Given the description of an element on the screen output the (x, y) to click on. 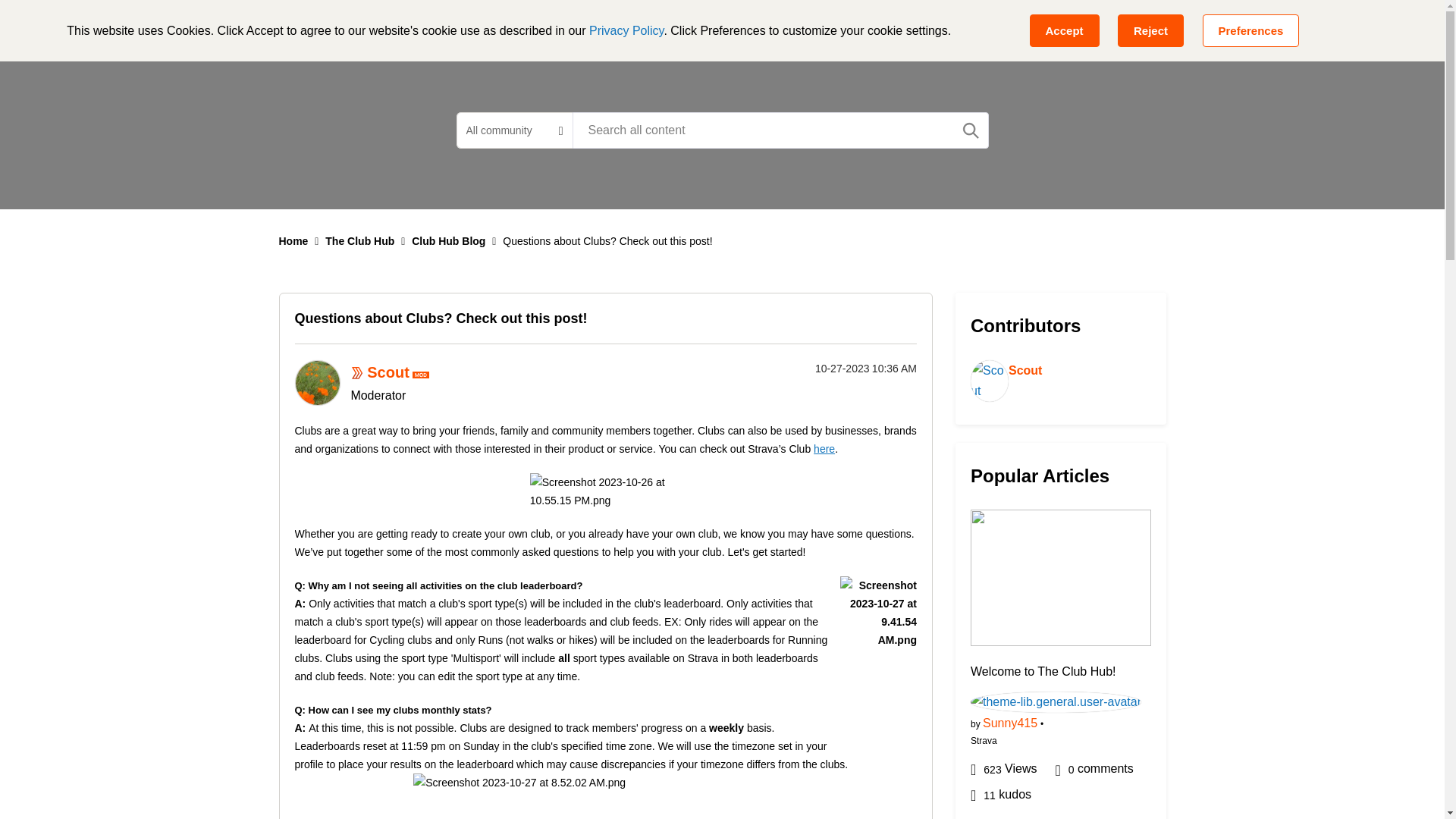
Search Granularity (514, 130)
Posted on (839, 368)
Accept (1064, 30)
Search (970, 130)
The Club Hub (778, 25)
Screenshot 2023-10-26 at 10.55.15 PM.png (605, 491)
Questions about Clubs? Check out this post! (440, 318)
Preferences (1251, 30)
Scout (316, 382)
Search (780, 130)
Search (970, 130)
Search (970, 130)
Reject (1150, 30)
Basecamp (497, 25)
Strava Community Hub (363, 25)
